Given the description of an element on the screen output the (x, y) to click on. 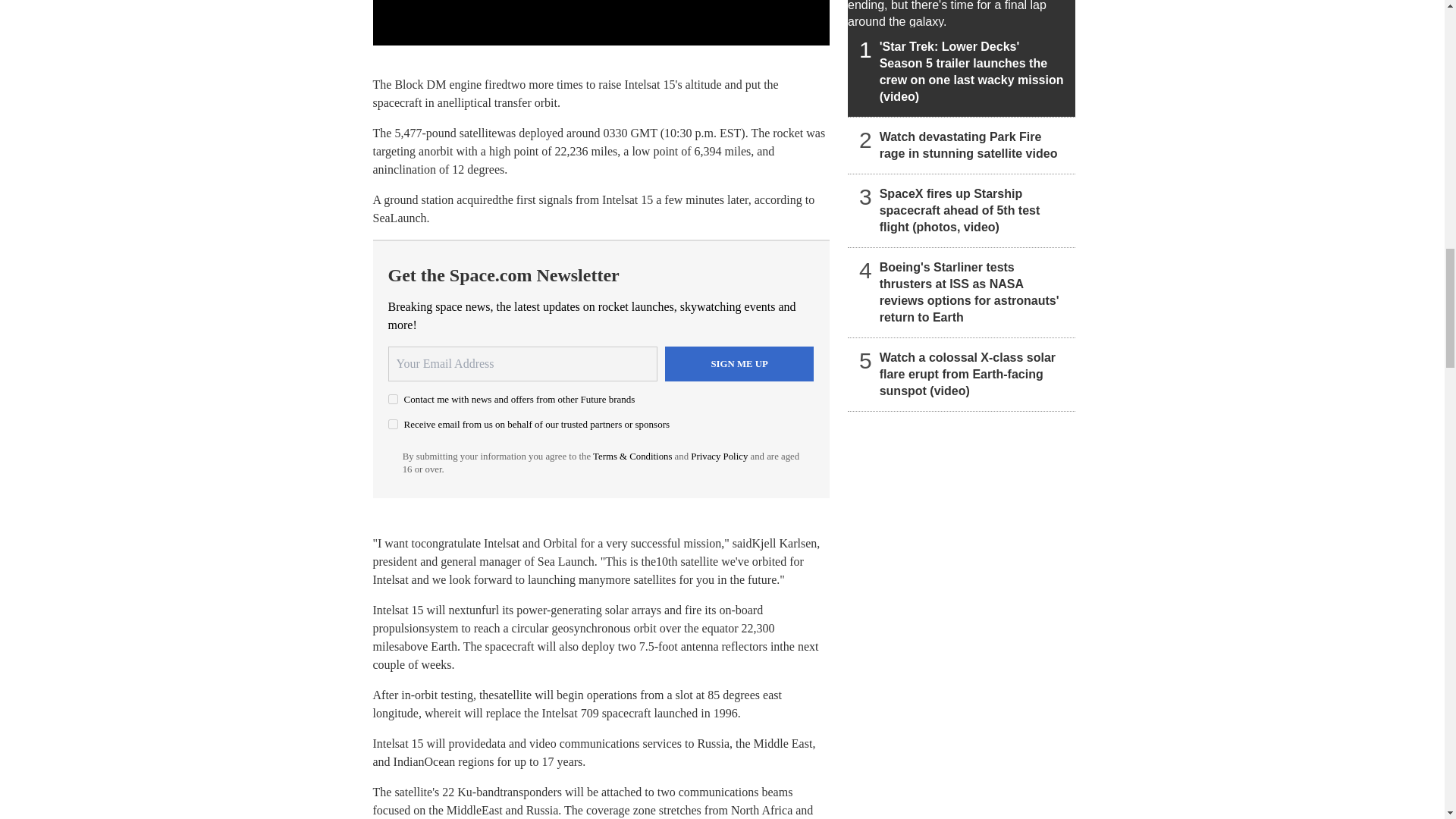
on (392, 398)
Sign me up (739, 363)
on (392, 424)
